Given the description of an element on the screen output the (x, y) to click on. 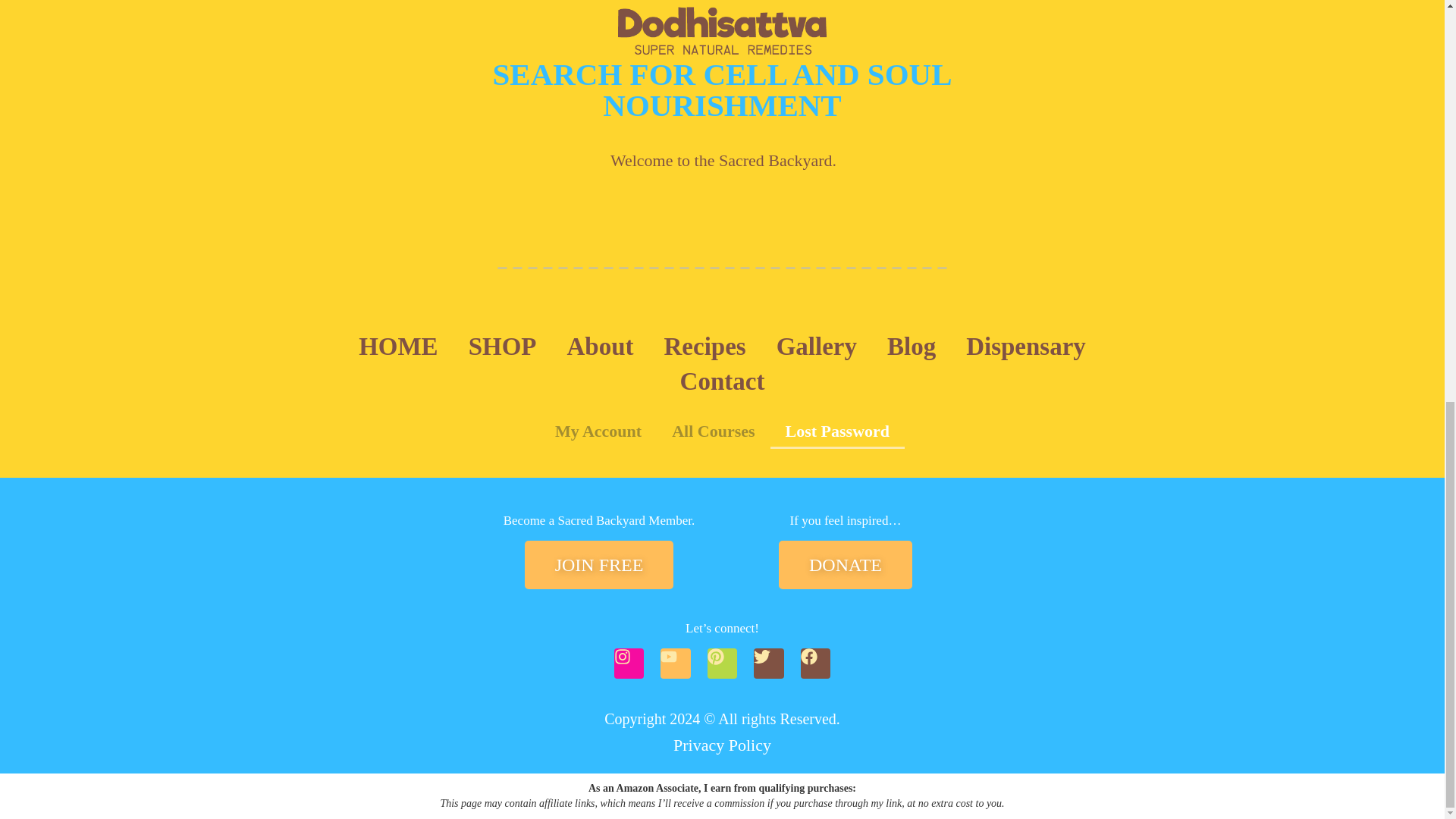
Page 1 (598, 520)
Page 1 (844, 520)
